Given the description of an element on the screen output the (x, y) to click on. 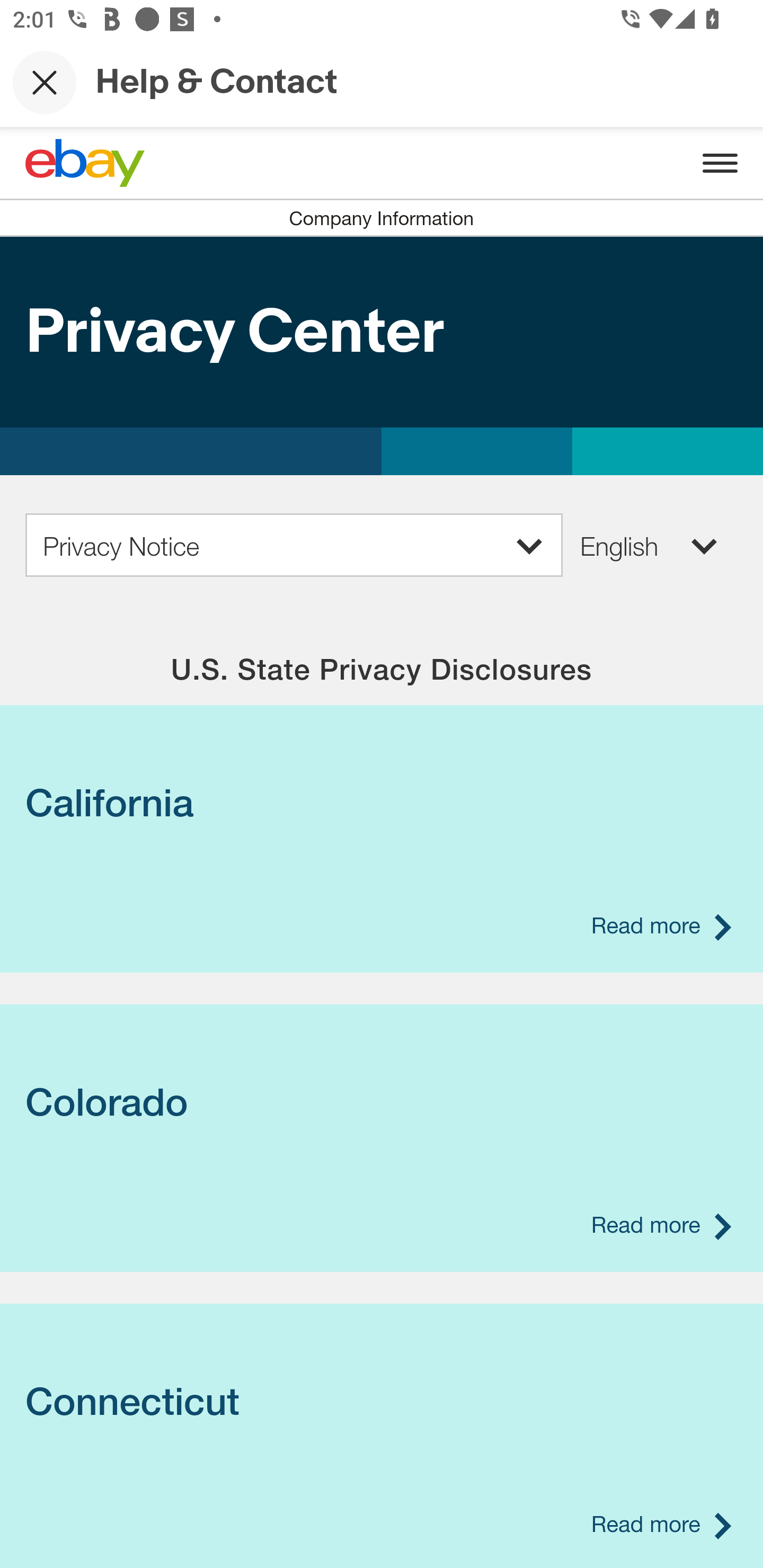
Close (44, 82)
Menu (720, 163)
Home (84, 162)
Privacy Notice (294, 544)
English (650, 544)
California Read more California Read more  (381, 803)
Read more  (659, 924)
Colorado Read more Colorado Read more  (381, 1101)
Read more  (659, 1224)
Connecticut Read more Connecticut Read more  (381, 1401)
Read more  (659, 1522)
